Given the description of an element on the screen output the (x, y) to click on. 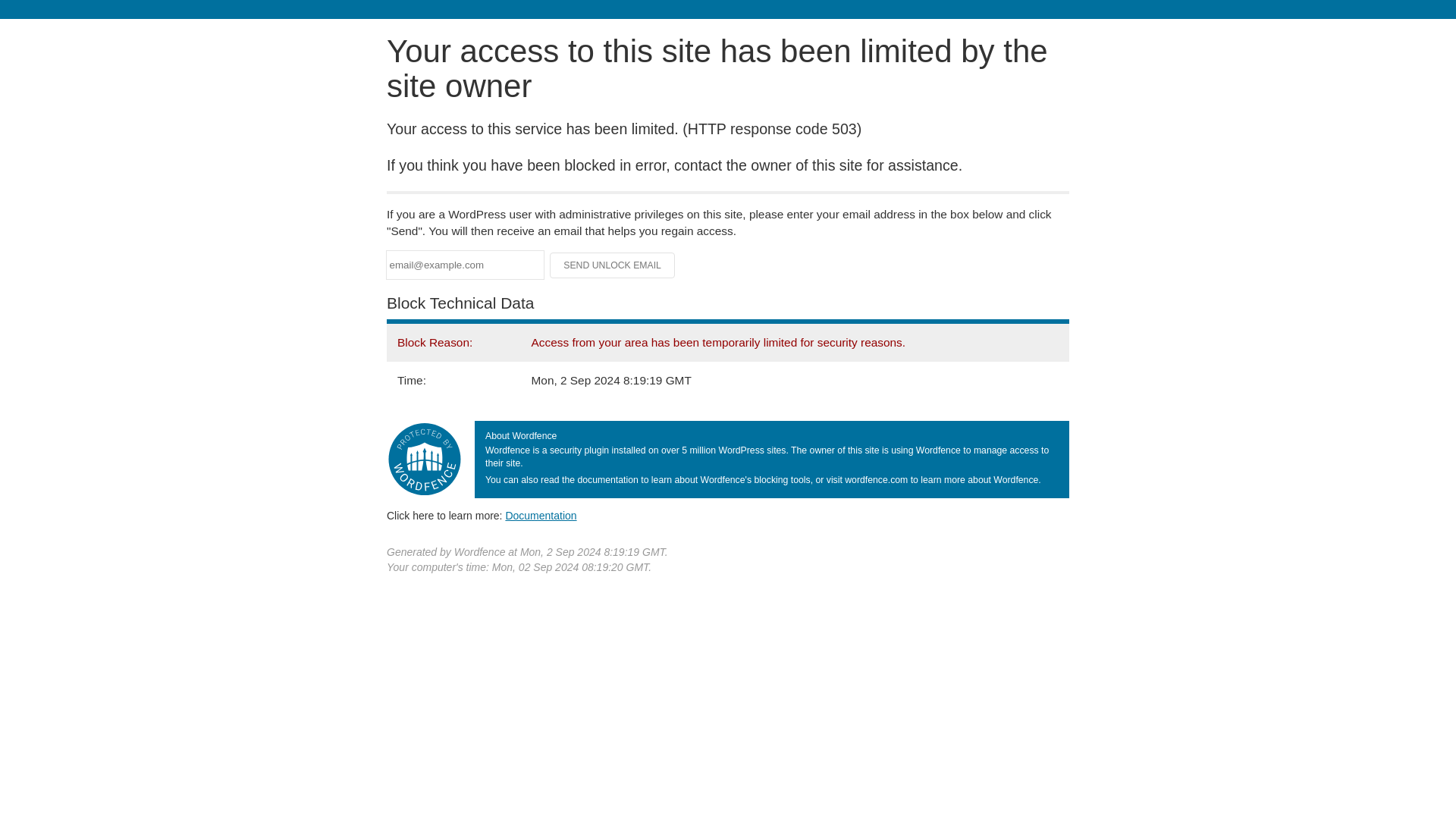
Send Unlock Email (612, 265)
Documentation (540, 515)
Send Unlock Email (612, 265)
